Given the description of an element on the screen output the (x, y) to click on. 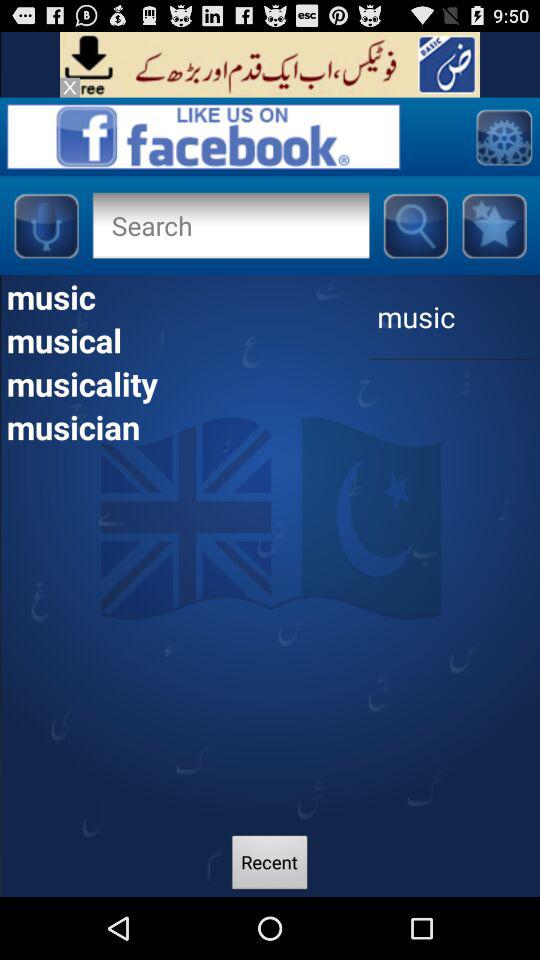
remove the add (69, 87)
